Given the description of an element on the screen output the (x, y) to click on. 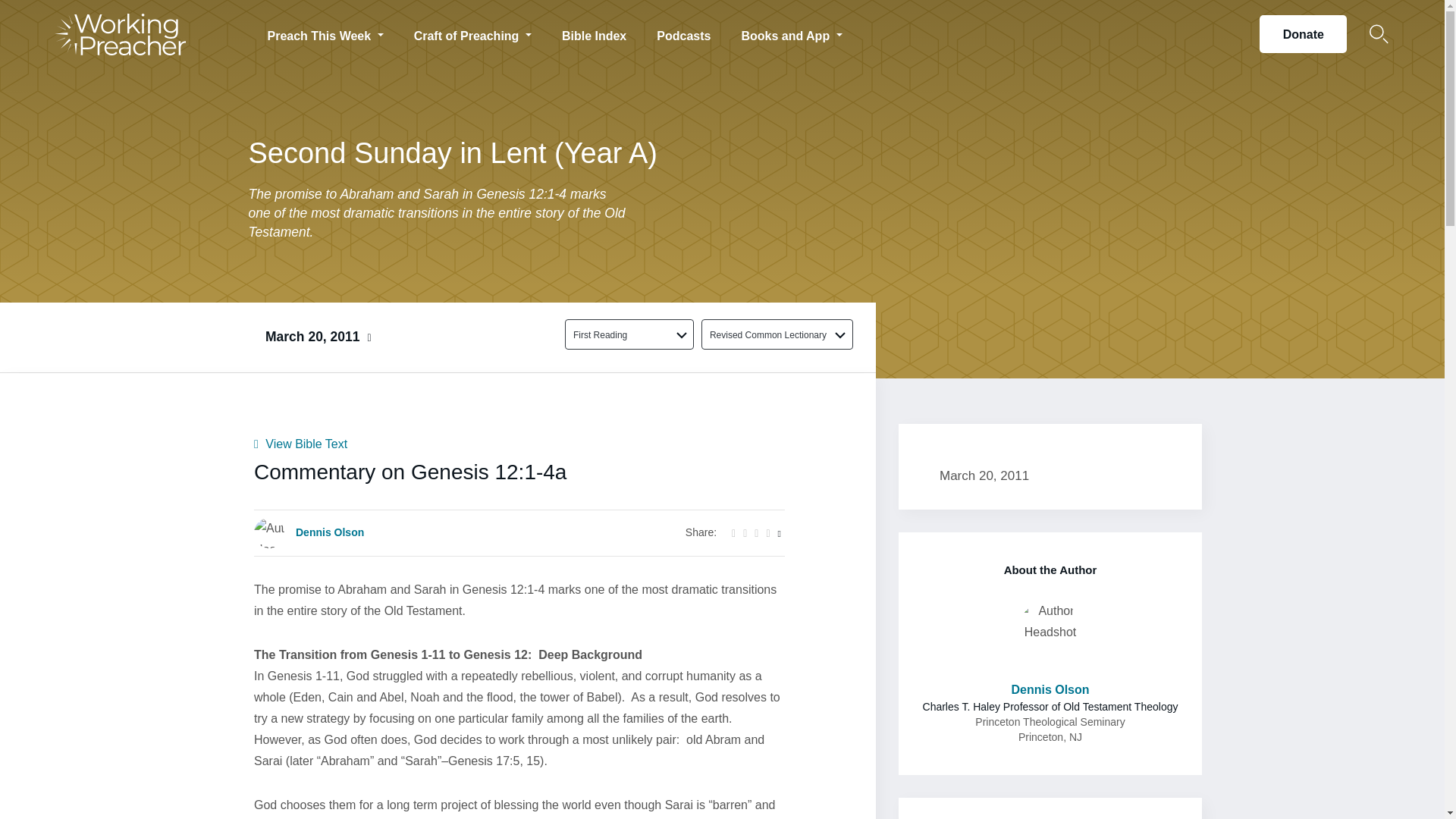
Craft of Preaching (472, 33)
View Bible Text (300, 443)
Bible Index (594, 33)
Podcasts (683, 33)
Craft of Preaching (472, 33)
Preach This Week (324, 33)
Podcasts (683, 33)
Donate (1302, 34)
Revised Common Lectionary (768, 334)
Bible Index (594, 33)
Preach This Week (324, 33)
Dennis Olson (329, 532)
First Reading (619, 334)
Books and App (791, 33)
Books and App (791, 33)
